Given the description of an element on the screen output the (x, y) to click on. 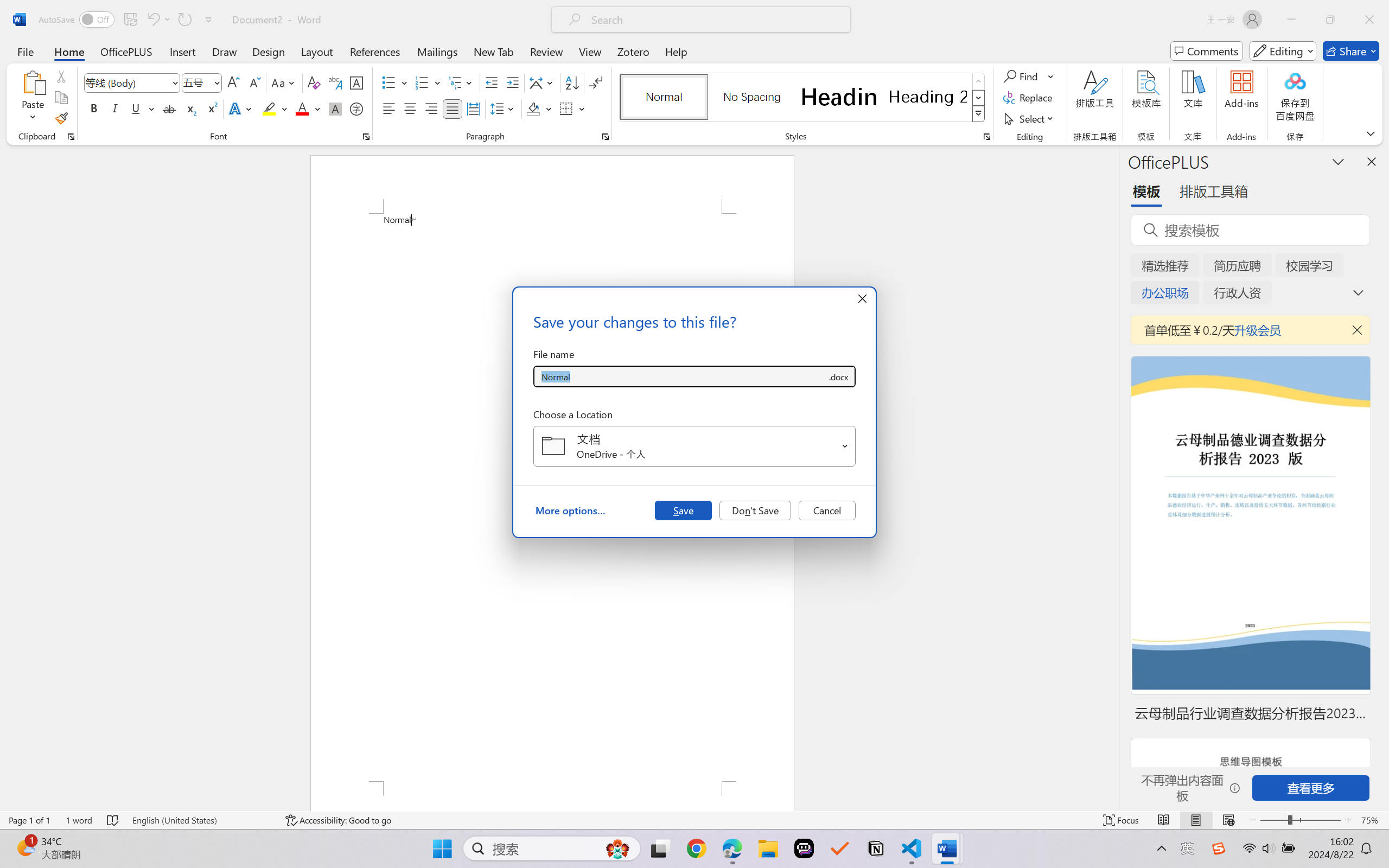
Subscript (190, 108)
Shrink Font (253, 82)
Clear Formatting (313, 82)
Font (132, 82)
Align Left (388, 108)
Decrease Indent (491, 82)
Replace... (1029, 97)
Format Painter (60, 118)
Heading 1 (839, 96)
